Given the description of an element on the screen output the (x, y) to click on. 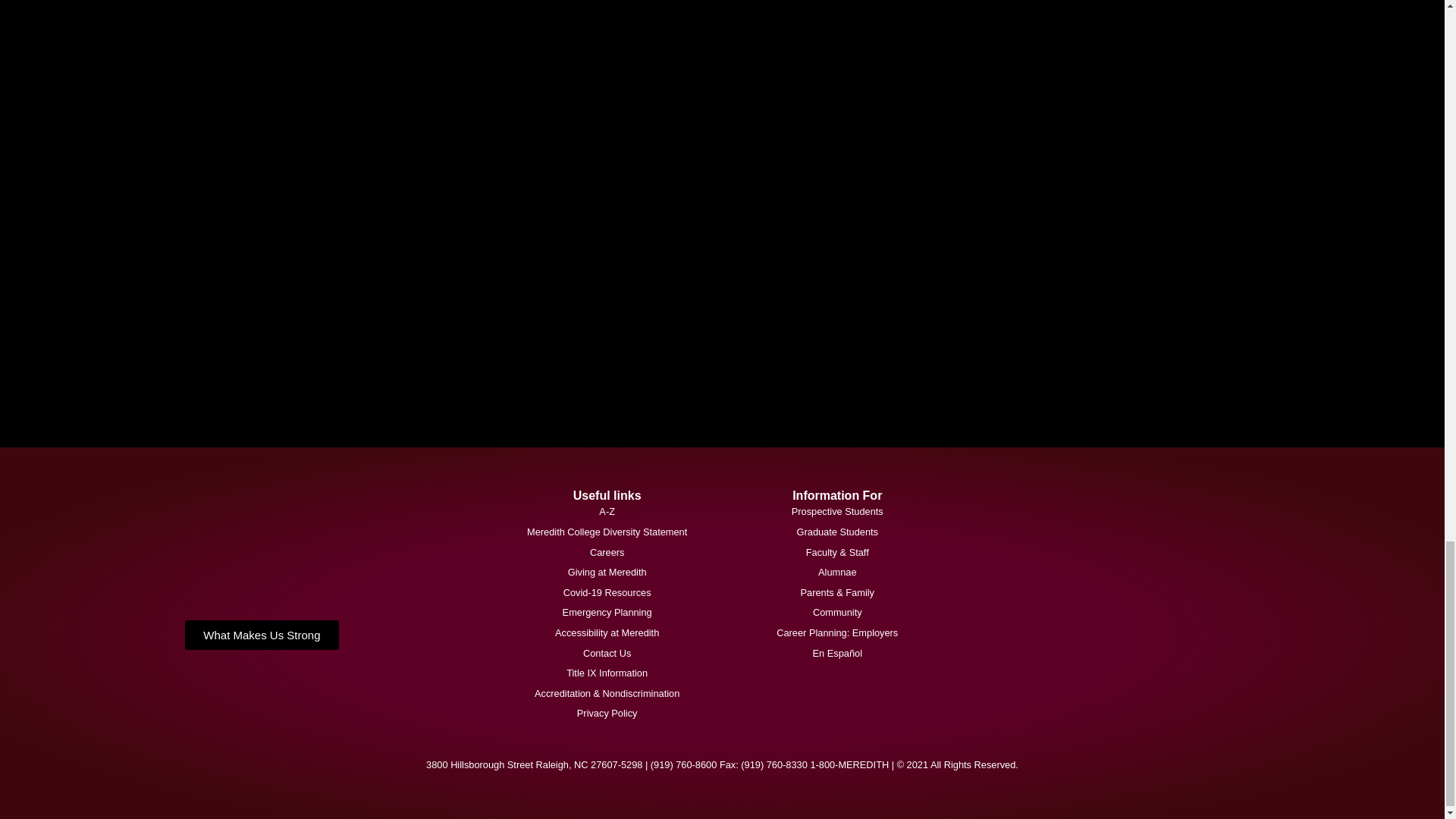
fi-social-twitter-rev (565, 110)
fi-social-instagram-rev (565, 238)
What Makes Us Strong (260, 634)
fi-social-facebook-rev (565, 18)
fi-social-youtube-rev (565, 368)
